Given the description of an element on the screen output the (x, y) to click on. 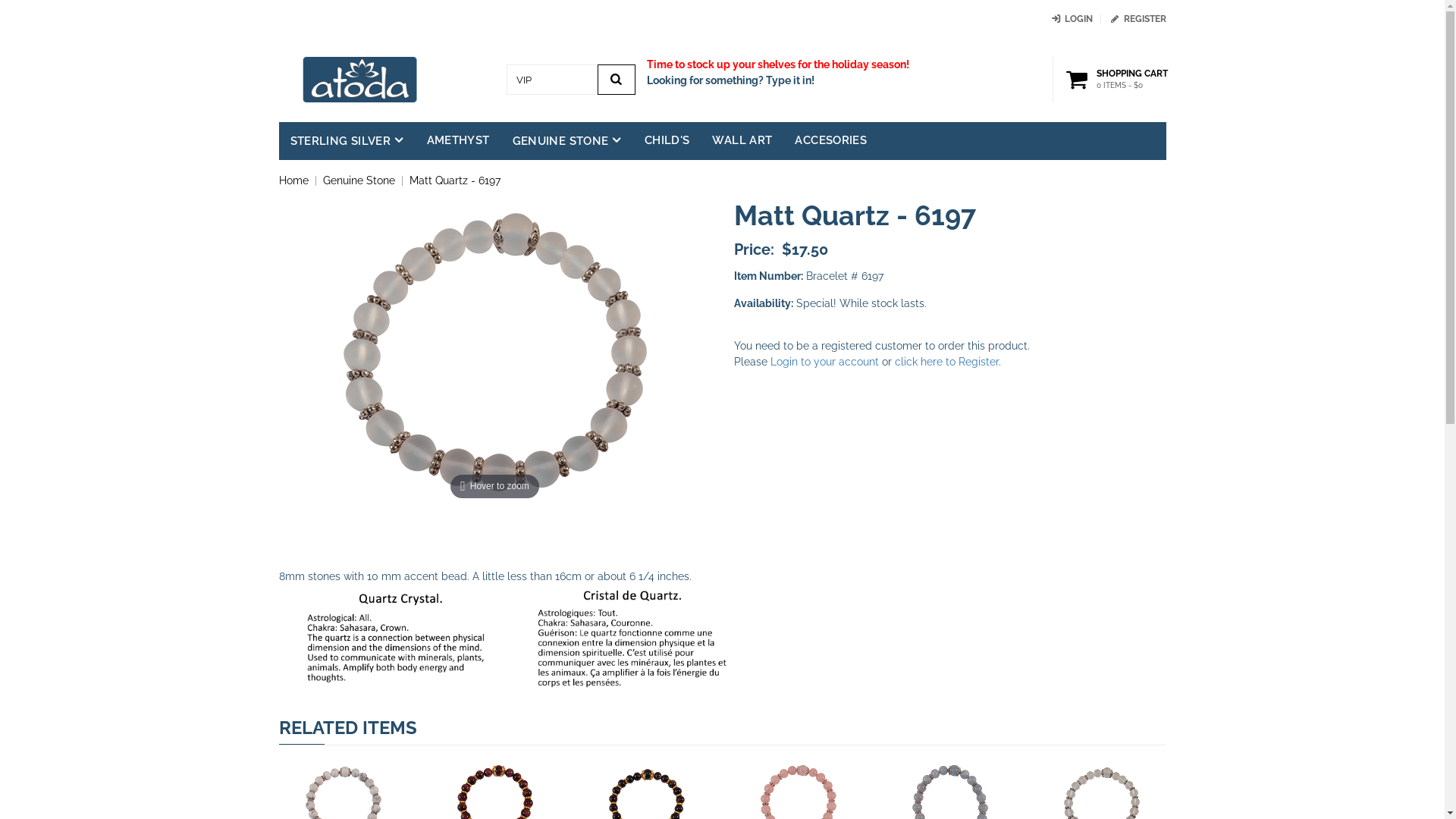
LOGIN Element type: text (1070, 18)
ACCESORIES Element type: text (830, 141)
Login to your account Element type: text (824, 361)
CHILD'S Element type: text (667, 141)
SHOPPING CART
0 ITEMS - $0 Element type: text (1118, 79)
Matt Quartz - 6197 Element type: text (454, 180)
Home Element type: text (293, 180)
Hover to zoom Element type: text (494, 351)
AMETHYST Element type: text (458, 141)
Genuine Stone Element type: text (359, 180)
STERLING SILVER Element type: text (347, 141)
GENUINE STONE Element type: text (566, 141)
WALL ART Element type: text (741, 141)
REGISTER Element type: text (1137, 18)
click here to Register Element type: text (946, 361)
